Given the description of an element on the screen output the (x, y) to click on. 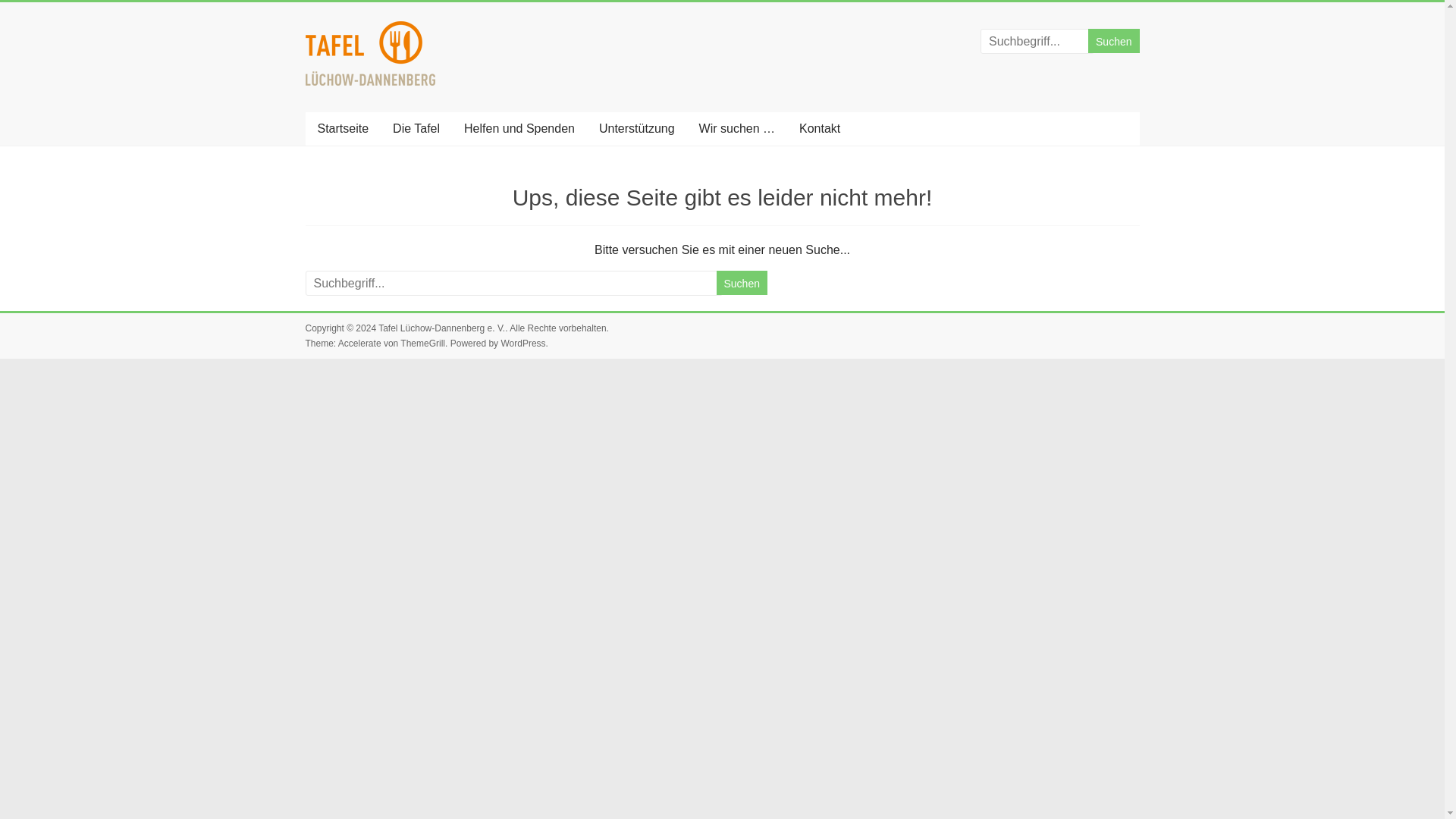
Startseite (342, 128)
WordPress (522, 343)
Suchen (1112, 40)
Suchen (741, 282)
Die Tafel (415, 128)
Accelerate (359, 343)
Helfen und Spenden (518, 128)
Suchen (1112, 40)
Suchen (741, 282)
WordPress (522, 343)
